Given the description of an element on the screen output the (x, y) to click on. 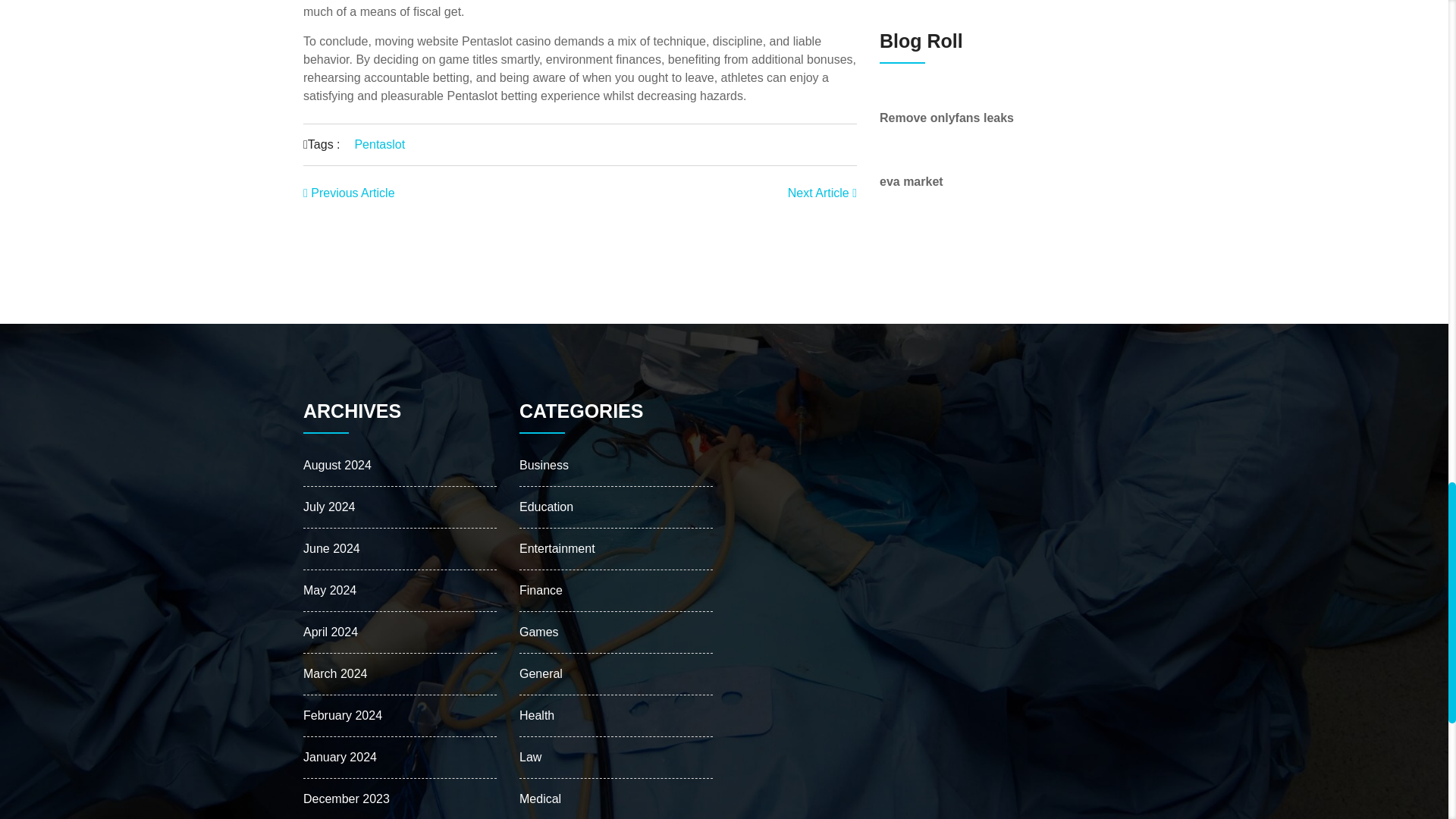
eva market (911, 181)
Next Article (822, 192)
Previous Article (348, 192)
Remove onlyfans leaks (946, 117)
July 2024 (328, 506)
August 2024 (336, 464)
Pentaslot (378, 144)
